Given the description of an element on the screen output the (x, y) to click on. 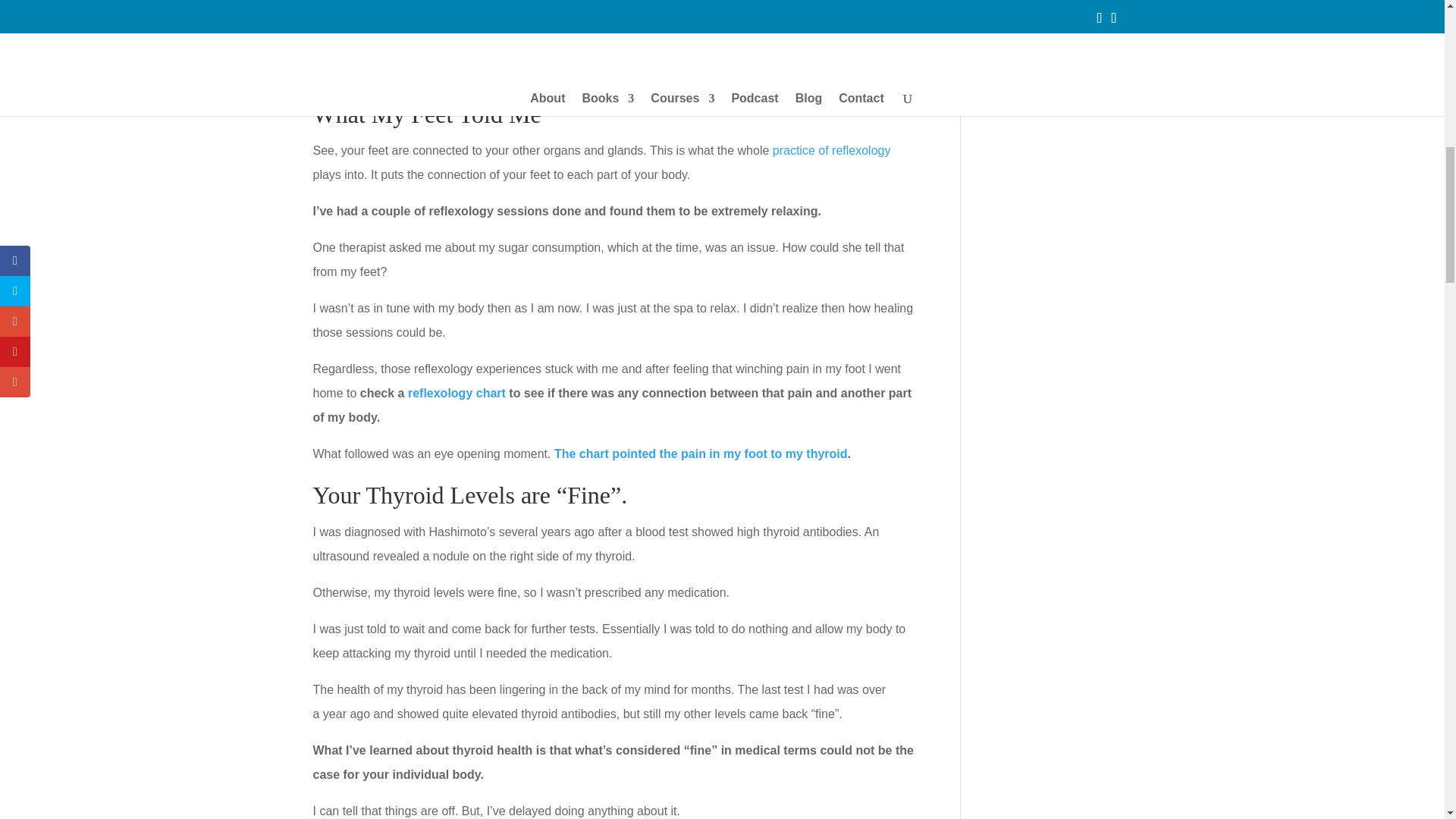
reflexology chart (456, 392)
The chart pointed the pain in my foot to my thyroid (700, 453)
practice of reflexology (832, 150)
